Given the description of an element on the screen output the (x, y) to click on. 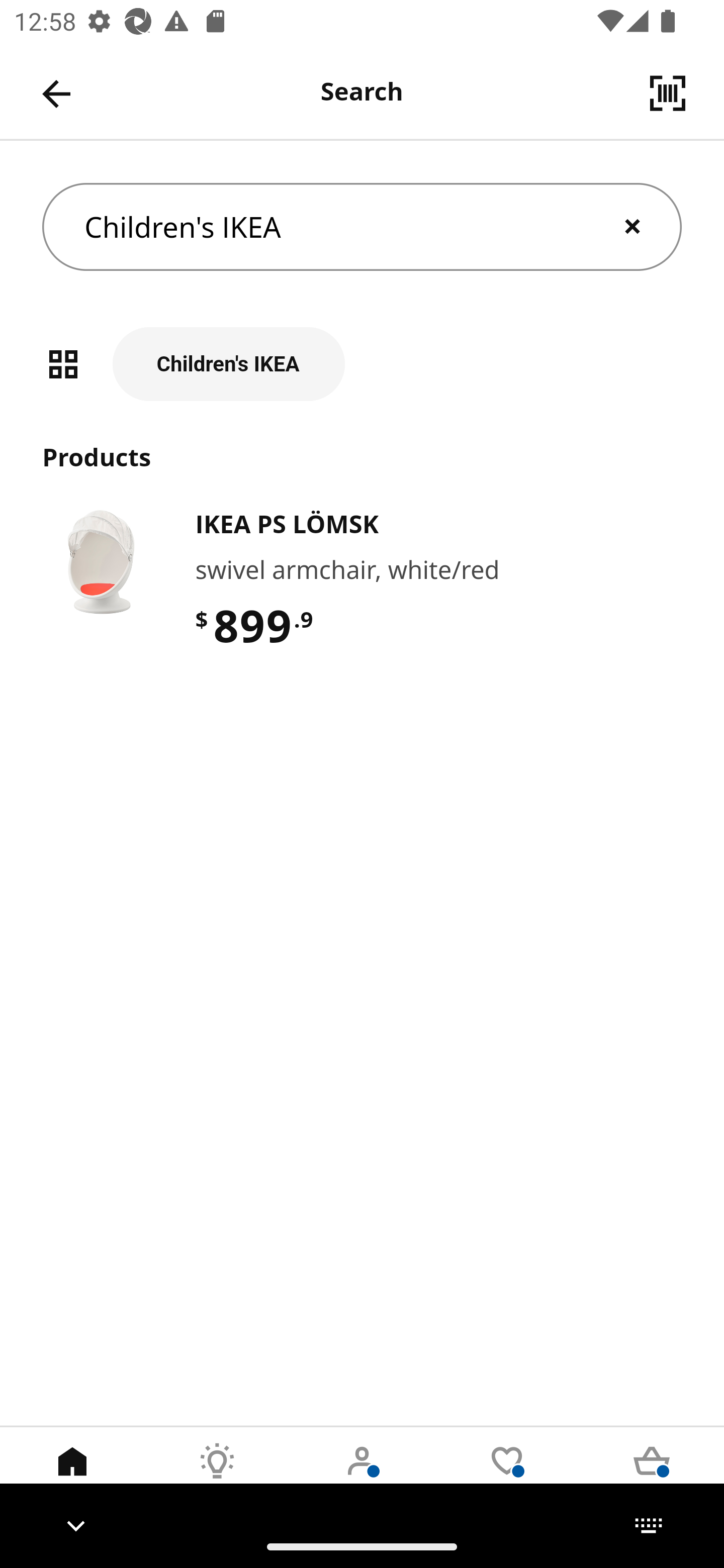
Children's IKEA (361, 227)
Children's IKEA (361, 364)
Home
Tab 1 of 5 (72, 1476)
Inspirations
Tab 2 of 5 (216, 1476)
User
Tab 3 of 5 (361, 1476)
Wishlist
Tab 4 of 5 (506, 1476)
Cart
Tab 5 of 5 (651, 1476)
